Given the description of an element on the screen output the (x, y) to click on. 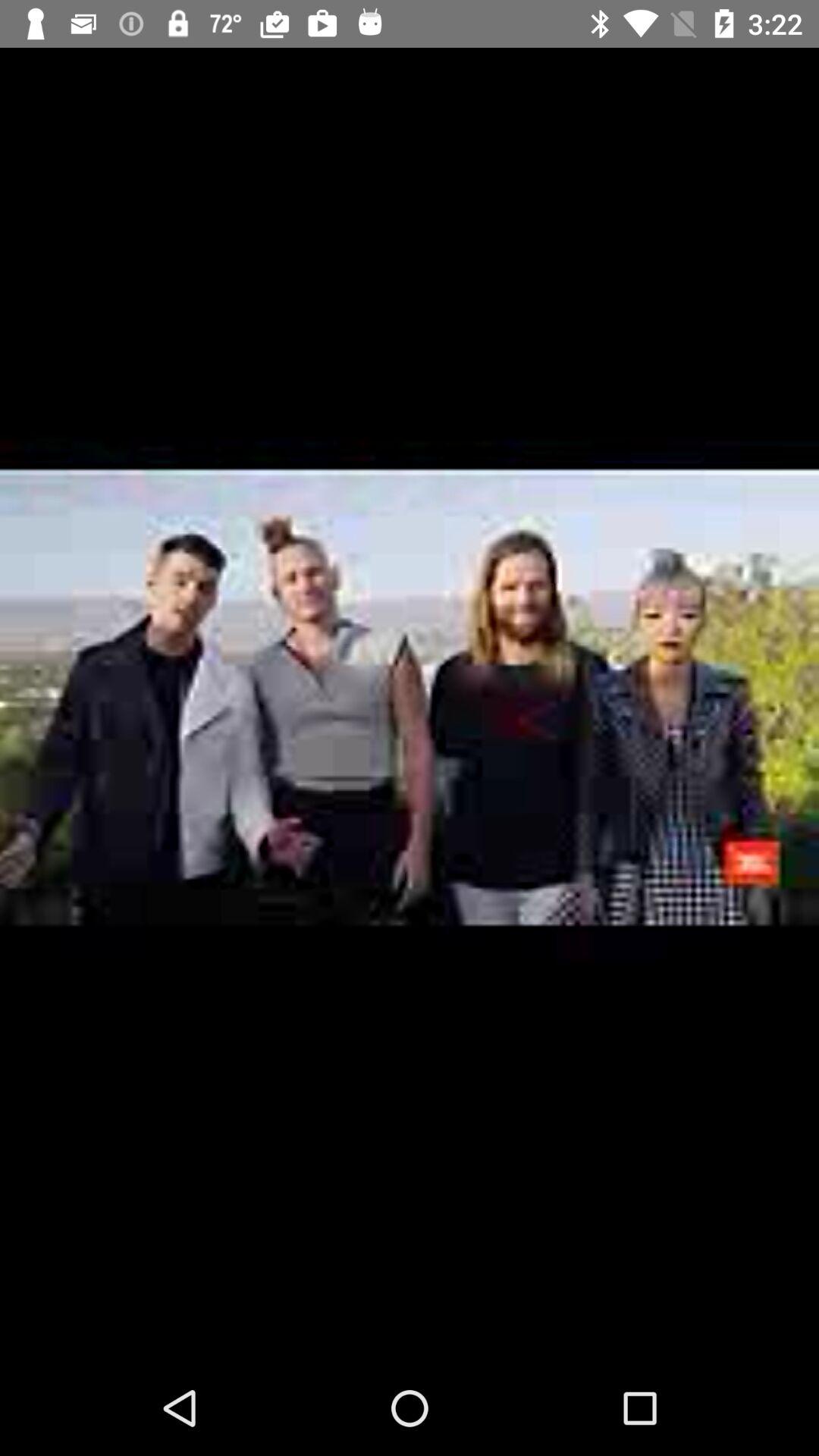
open the item at the center (409, 704)
